Given the description of an element on the screen output the (x, y) to click on. 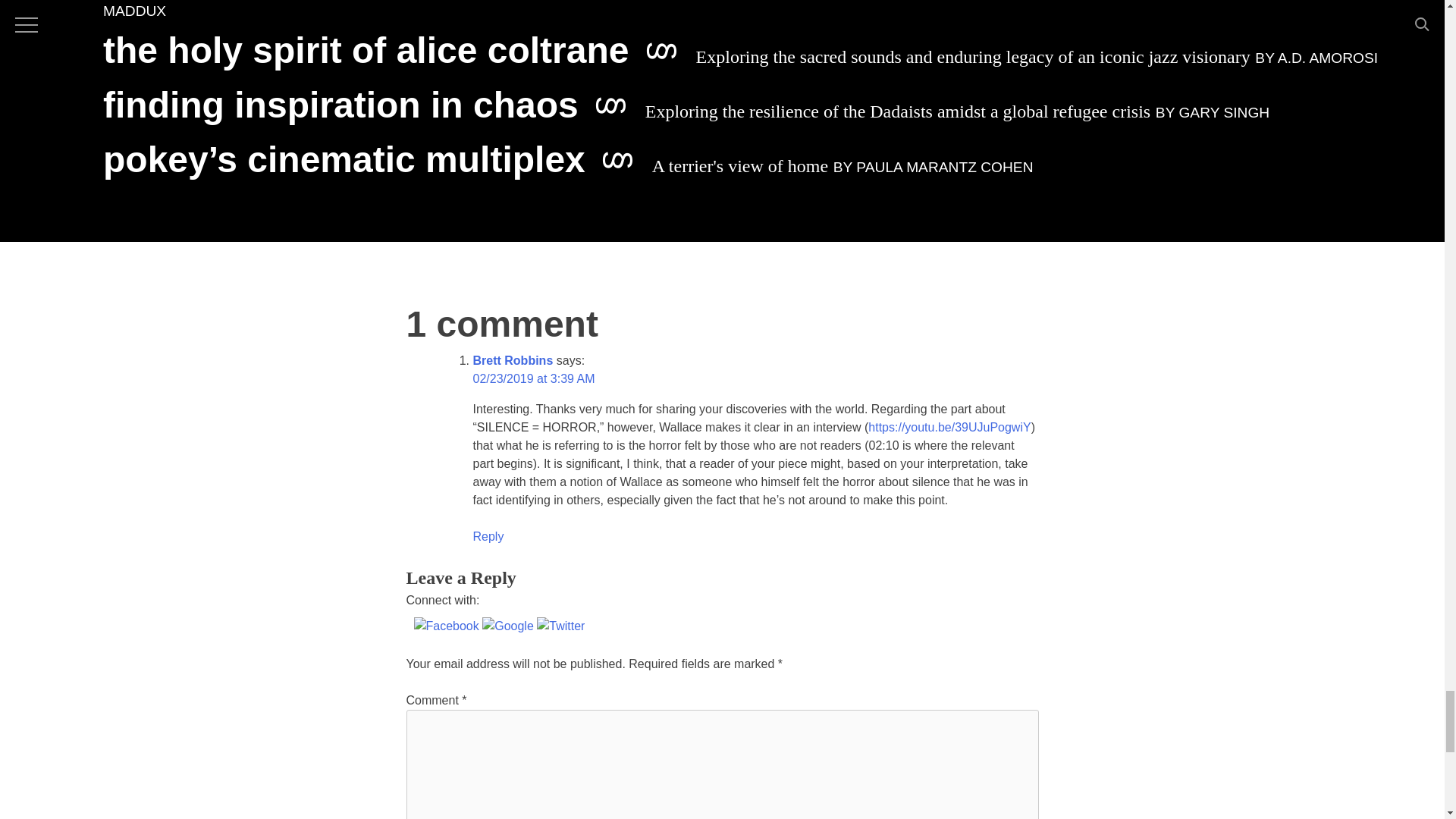
Permanent Link to Finding Inspiration in Chaos (686, 109)
Permanent Link to A Year that Defined a Lifetime (729, 9)
Permanent Link to The Holy Spirit of Alice Coltrane (740, 55)
